Given the description of an element on the screen output the (x, y) to click on. 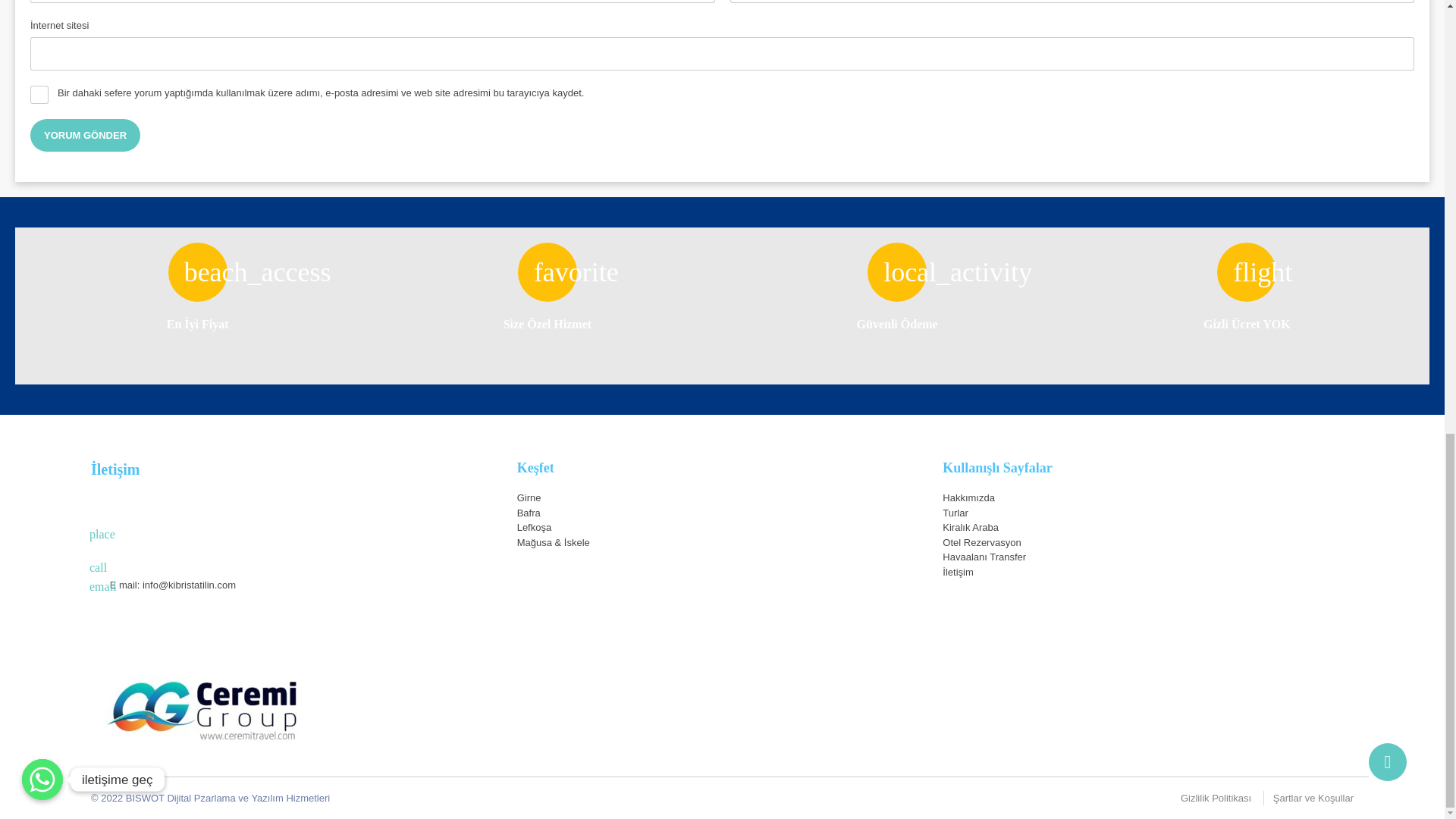
Otel Rezervasyon (981, 542)
Turlar (955, 512)
Girne (528, 497)
Bafra (528, 512)
